Given the description of an element on the screen output the (x, y) to click on. 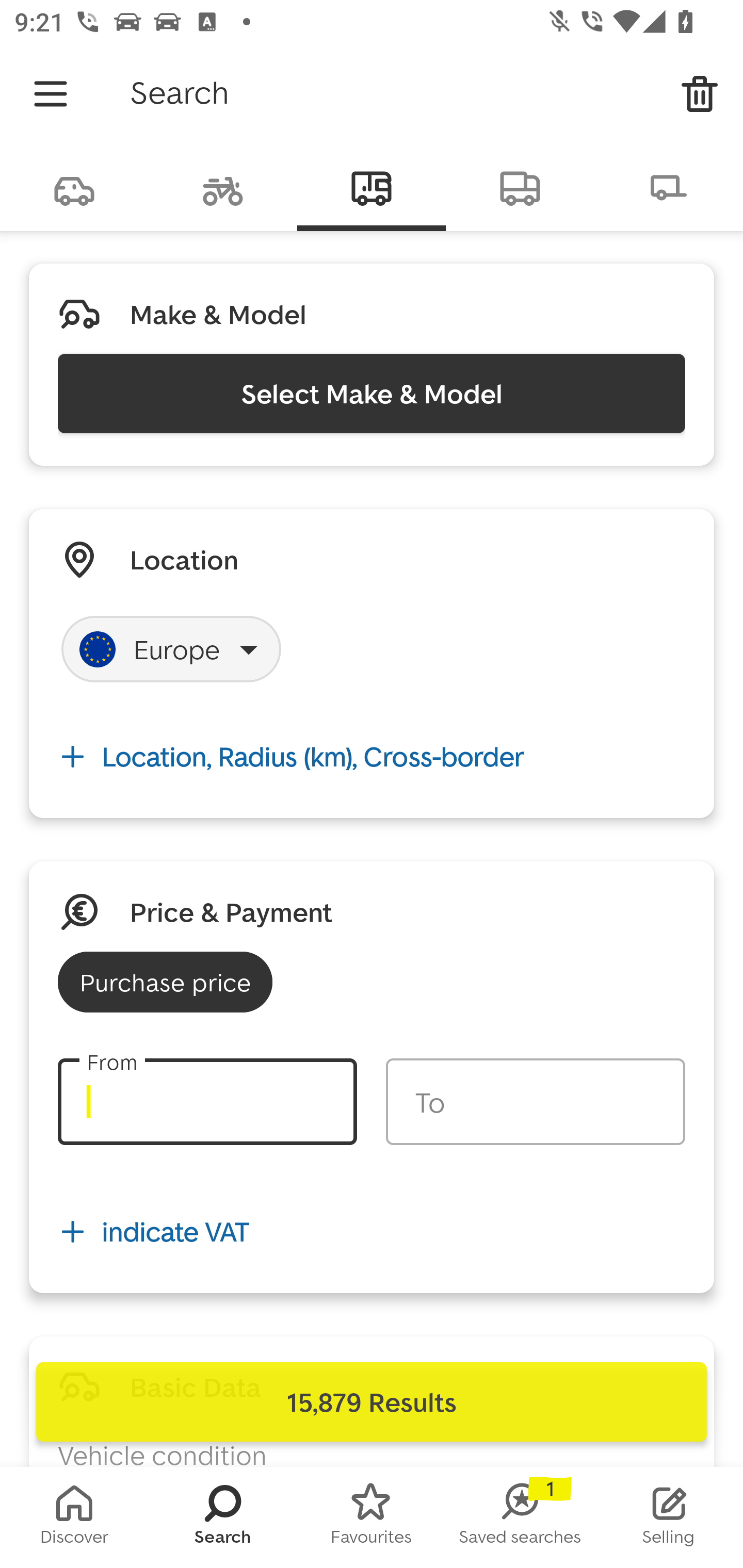
Navigate up (50, 93)
New search (699, 93)
CAR_SEARCH (74, 187)
BIKE_SEARCH (222, 187)
TRUCKS_SEARCH (519, 187)
TRAILERS_SEARCH (668, 187)
Make & Model (218, 314)
Select Make & Model (371, 393)
Location (184, 559)
Europe (170, 648)
Location, Radius (km), Cross-border (371, 756)
Price & Payment (231, 911)
Purchase price (164, 981)
From (207, 1101)
To (535, 1101)
indicate VAT (371, 1231)
15,879 Results (371, 1401)
HOMESCREEN Discover (74, 1517)
SEARCH Search (222, 1517)
FAVORITES Favourites (371, 1517)
SAVED_SEARCHES Saved searches 1 (519, 1517)
STOCK_LIST Selling (668, 1517)
